Given the description of an element on the screen output the (x, y) to click on. 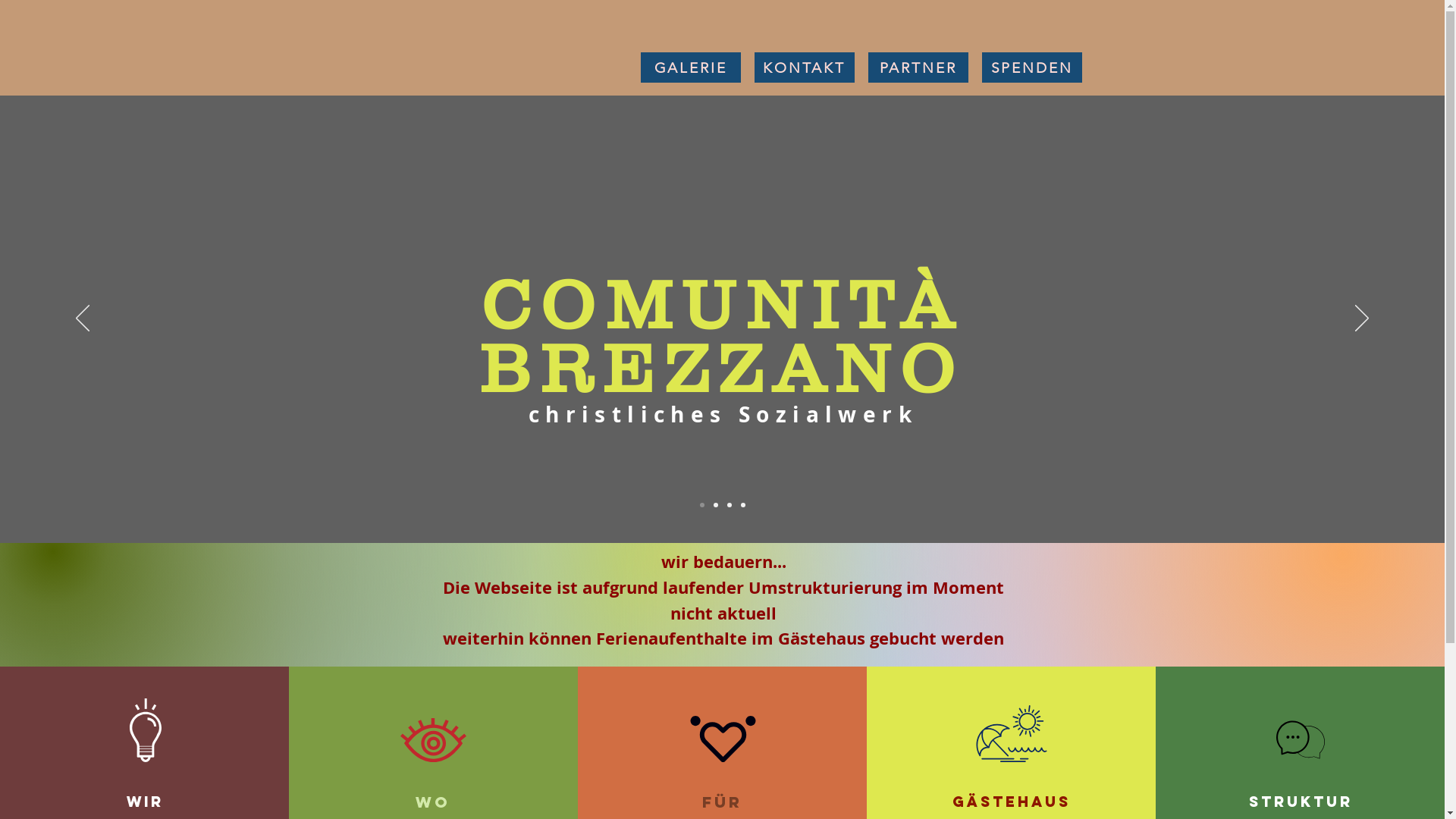
KONTAKT Element type: text (803, 67)
BREZZANO Element type: text (721, 367)
STRUKTUR Element type: text (1300, 801)
WO Element type: text (432, 802)
wir Element type: text (144, 801)
GALERIE Element type: text (690, 67)
PARTNER Element type: text (917, 67)
SPENDEN Element type: text (1031, 67)
